Given the description of an element on the screen output the (x, y) to click on. 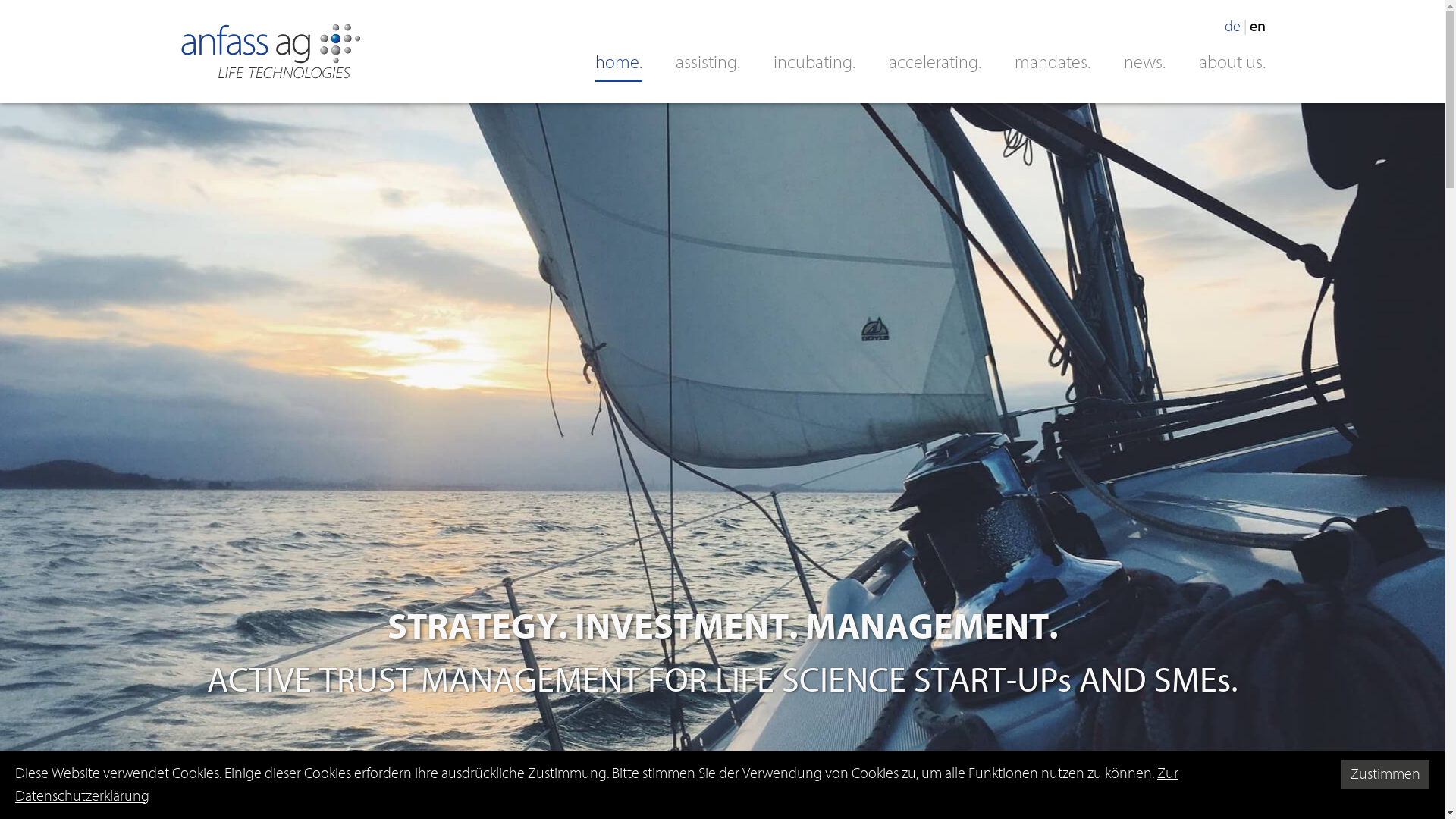
en Element type: text (1257, 25)
about us. Element type: text (1231, 62)
news. Element type: text (1144, 62)
de Element type: text (1232, 25)
incubating. Element type: text (814, 62)
home. Element type: text (617, 62)
assisting. Element type: text (706, 62)
anfass Life Technologies AG Element type: hover (269, 50)
accelerating. Element type: text (934, 62)
mandates. Element type: text (1052, 62)
